Given the description of an element on the screen output the (x, y) to click on. 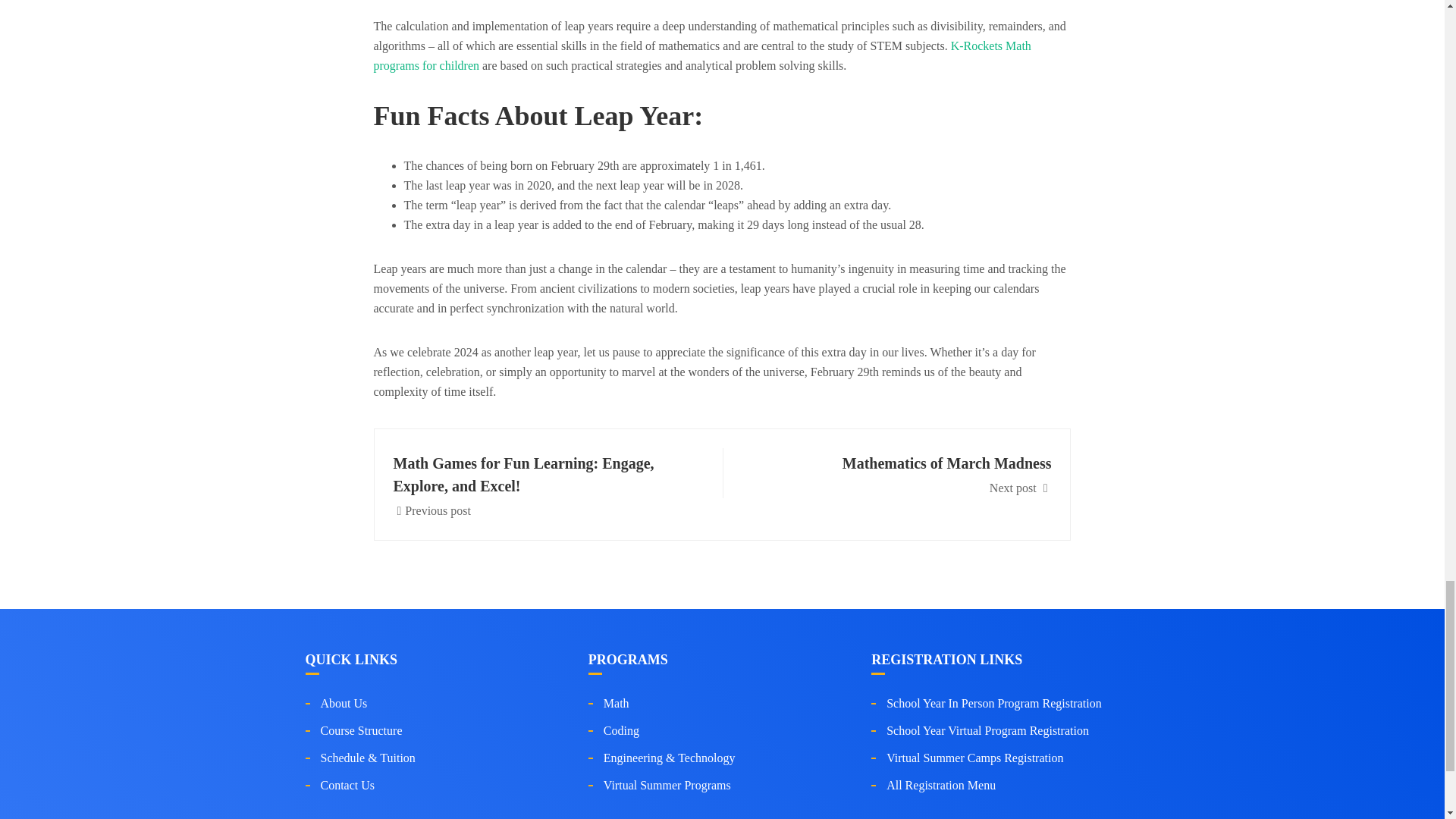
K-Rockets Math programs for children (902, 473)
Contact Us (701, 55)
Math (347, 784)
Course Structure (616, 703)
About Us (360, 730)
